Given the description of an element on the screen output the (x, y) to click on. 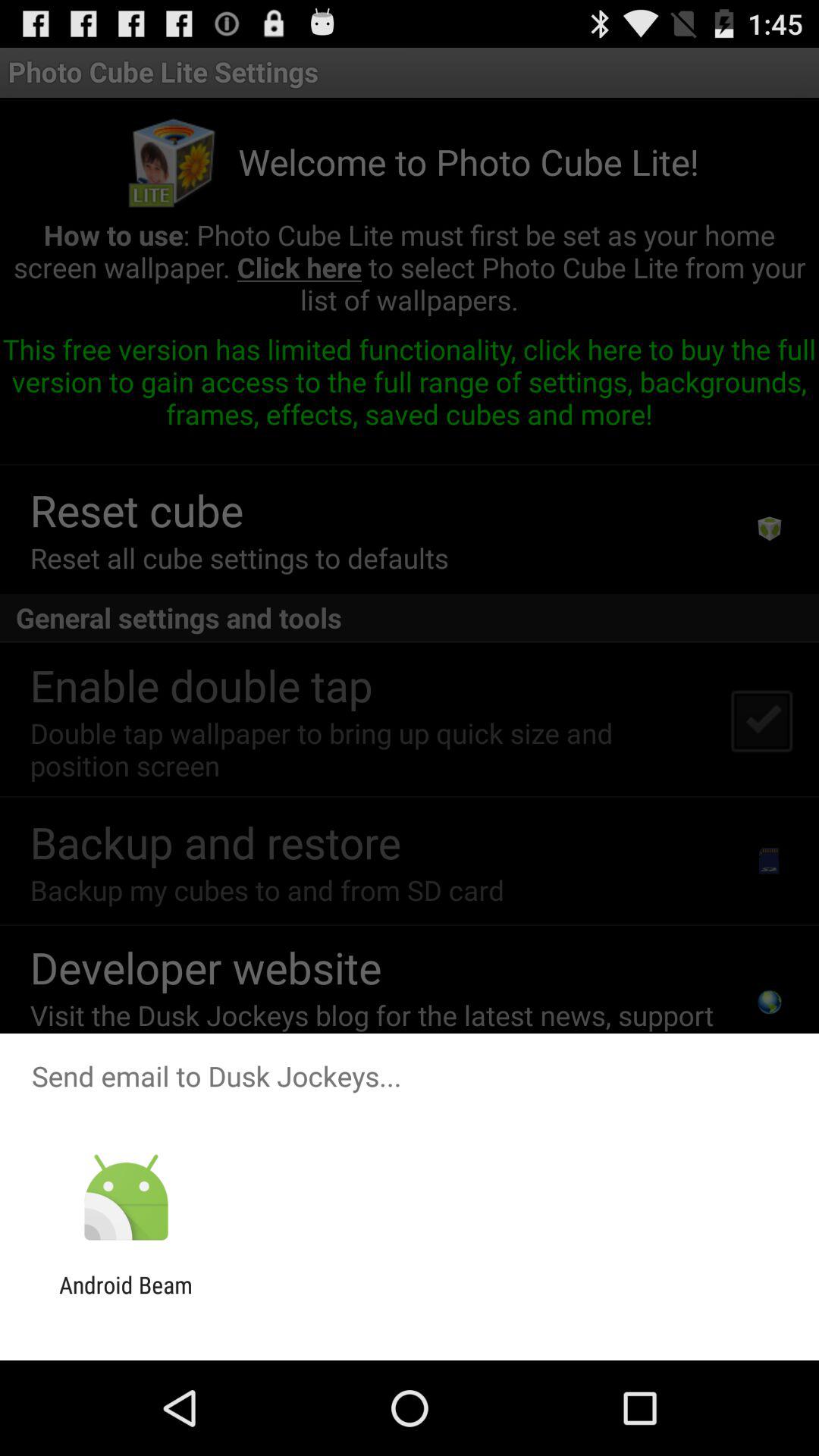
turn off the app above android beam app (126, 1198)
